Given the description of an element on the screen output the (x, y) to click on. 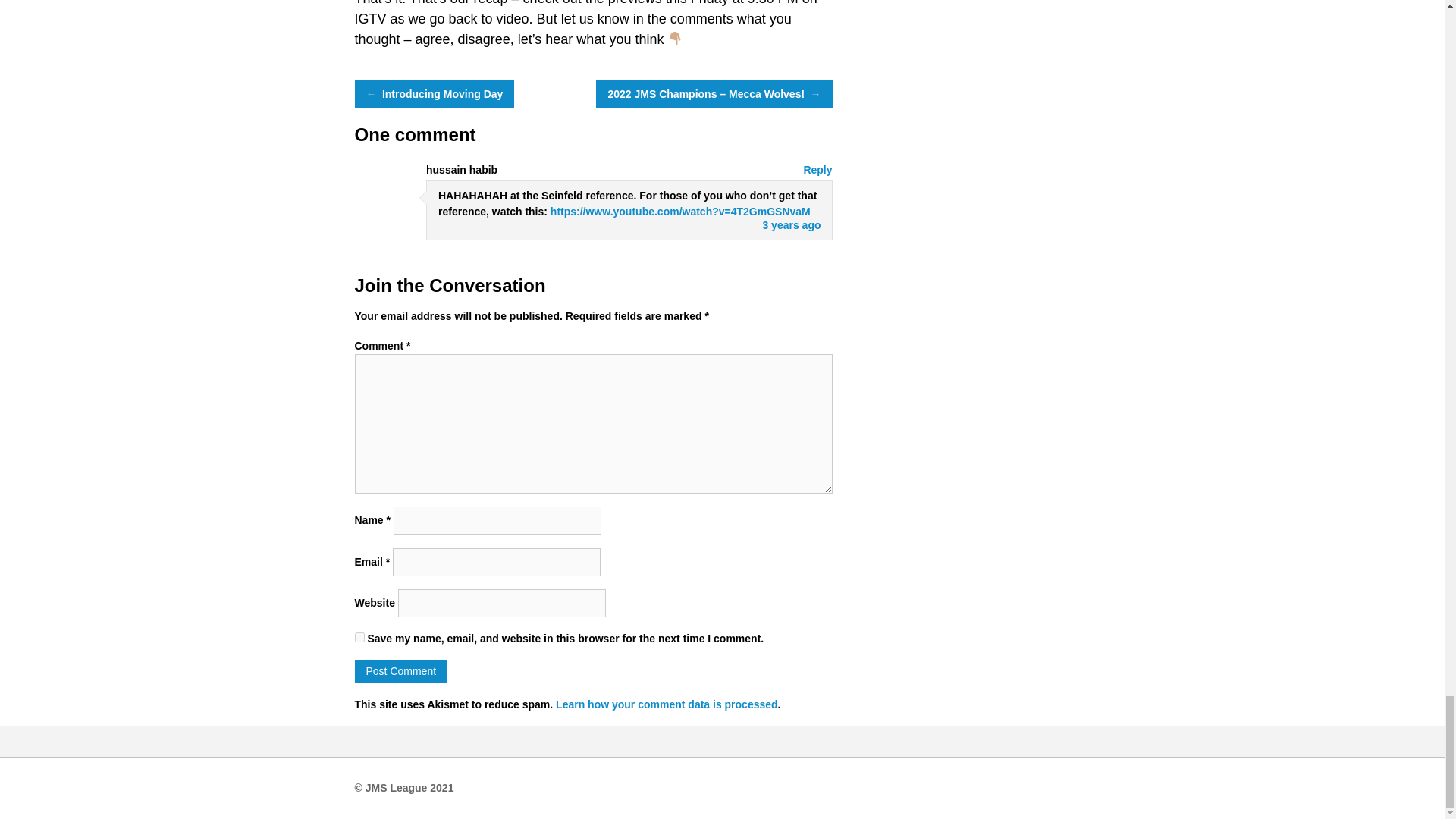
July 27, 2021 at 8:19 pm (791, 224)
Post Comment (401, 671)
yes (360, 637)
